Given the description of an element on the screen output the (x, y) to click on. 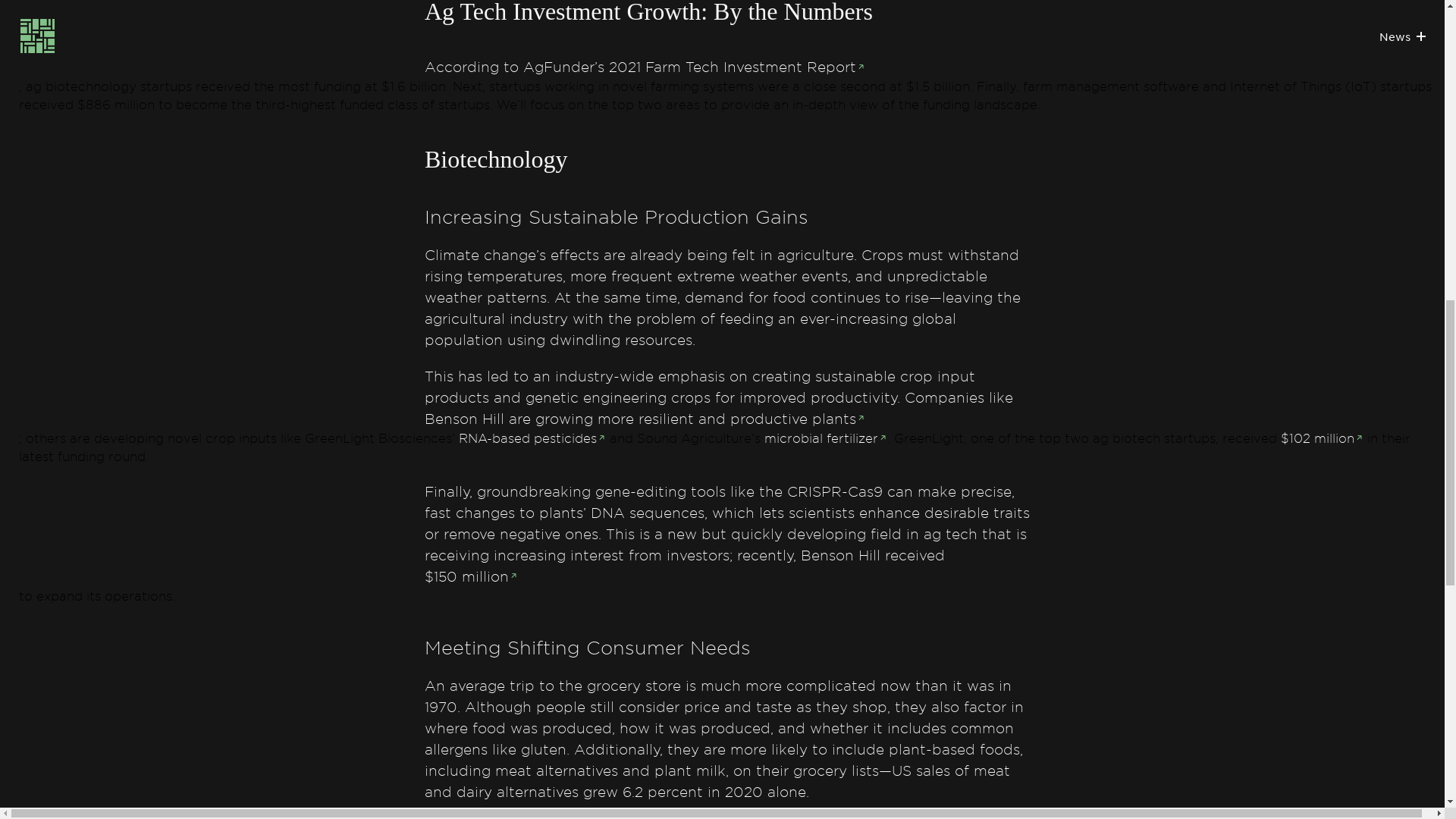
growing more resilient and productive plants (699, 418)
RNA-based pesticides (531, 438)
microbial fertilizer (825, 438)
2021 Farm Tech Investment Report (736, 66)
